Given the description of an element on the screen output the (x, y) to click on. 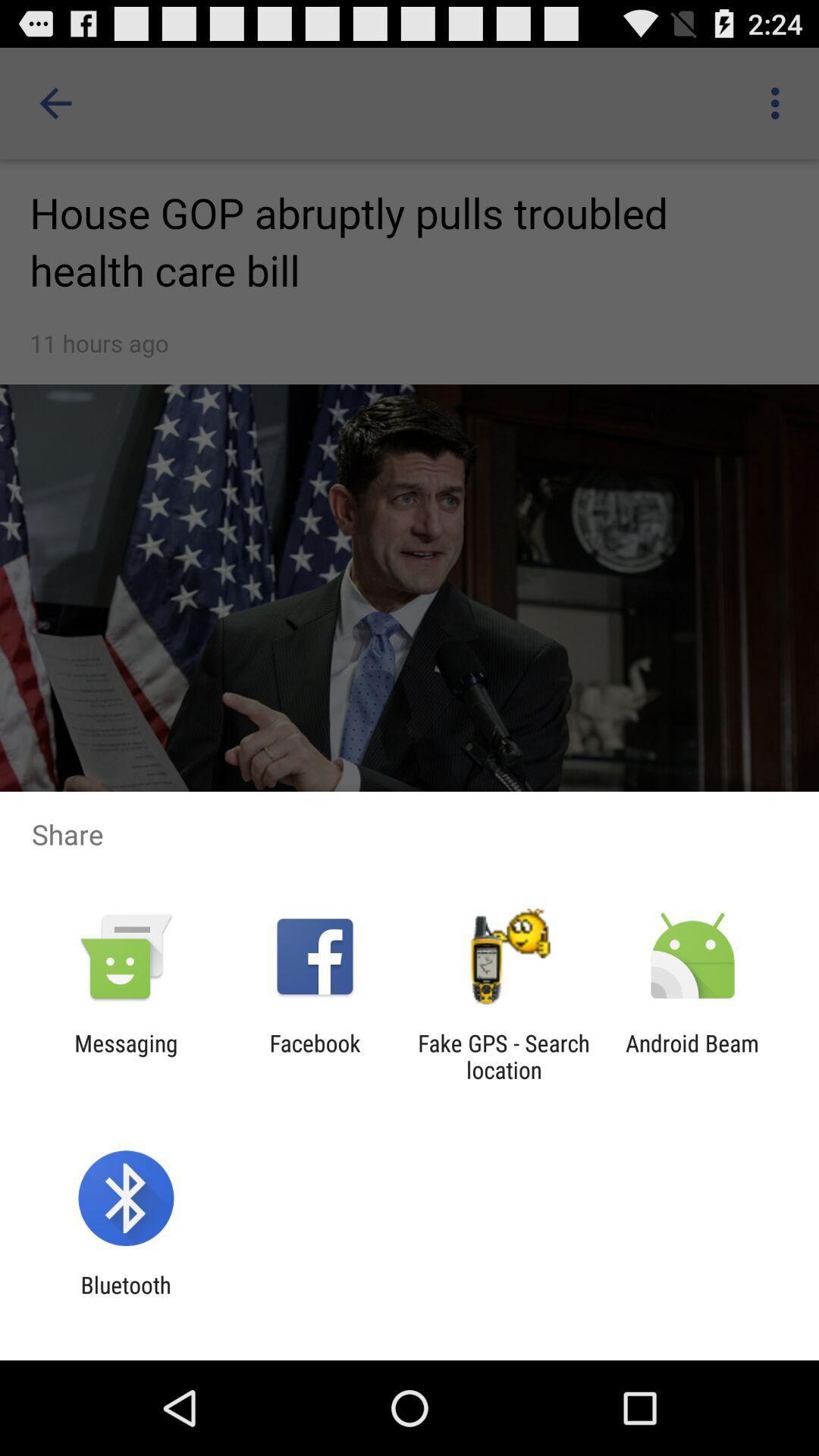
press the icon next to fake gps search (692, 1056)
